Given the description of an element on the screen output the (x, y) to click on. 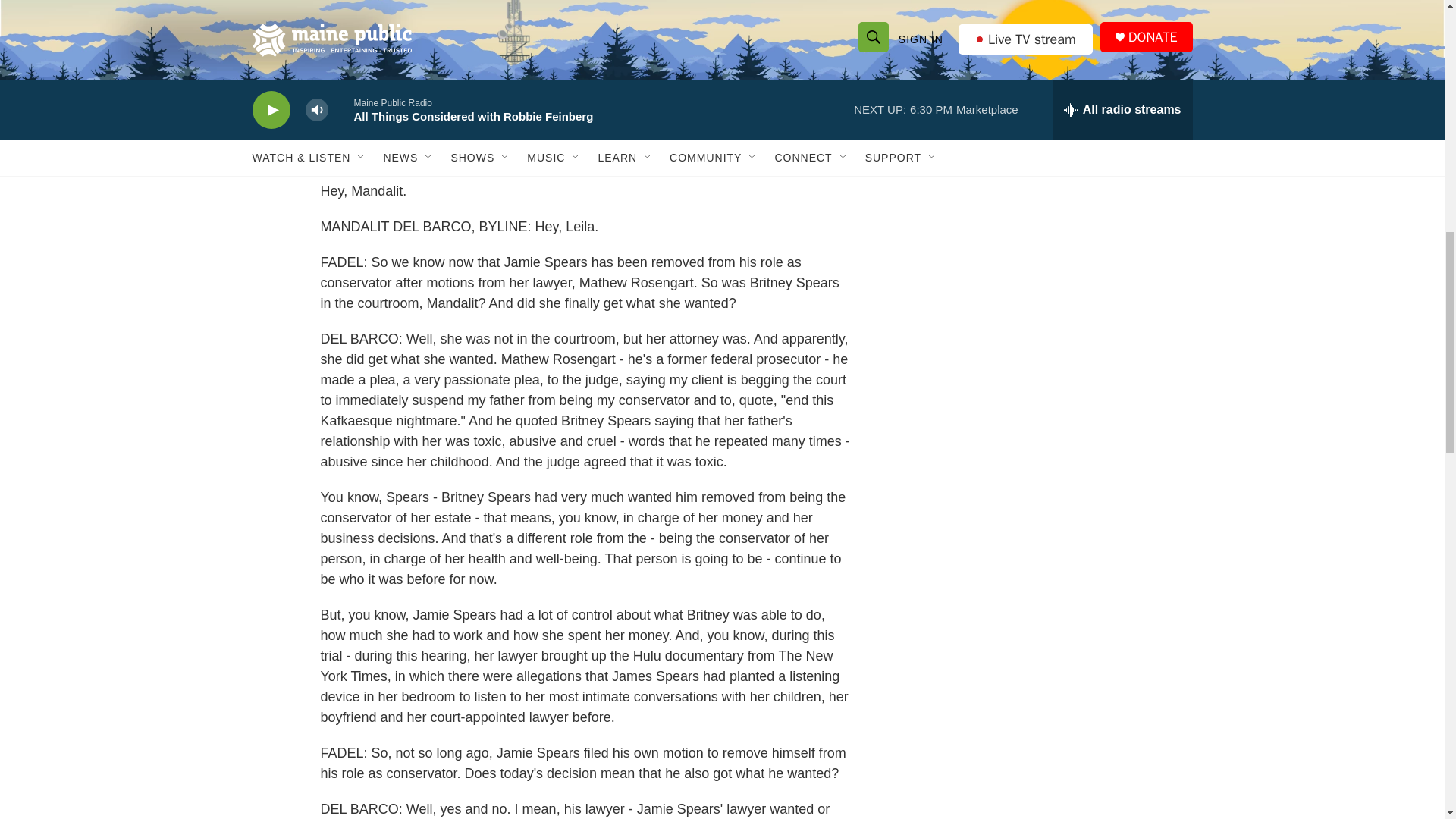
3rd party ad content (1062, 313)
3rd party ad content (584, 63)
3rd party ad content (1062, 94)
